Given the description of an element on the screen output the (x, y) to click on. 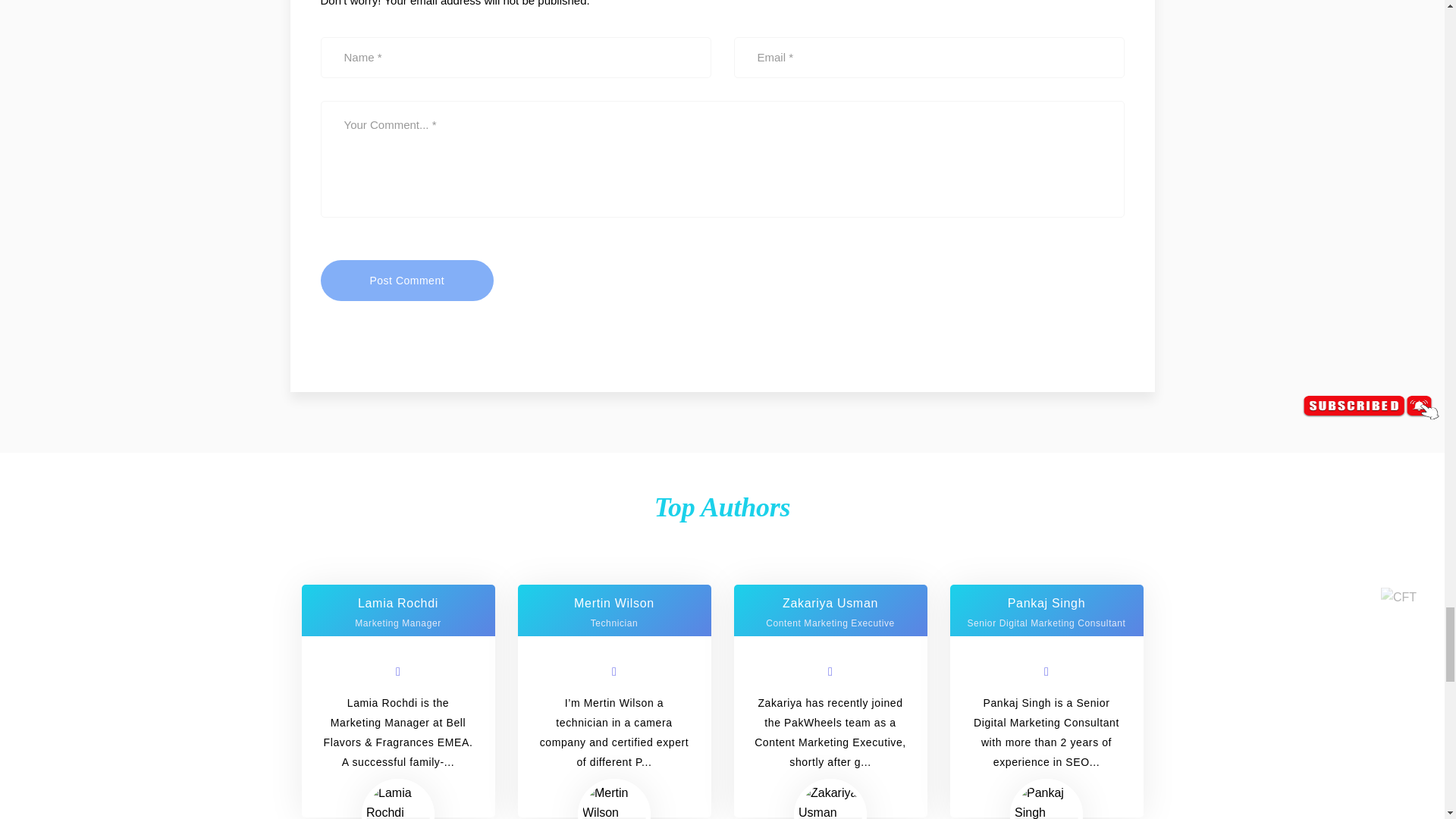
Post Comment (406, 280)
Mertin Wilson (614, 800)
Lamia Rochdi (397, 800)
Pankaj Singh (1046, 800)
Zakariya Usman (829, 800)
